Given the description of an element on the screen output the (x, y) to click on. 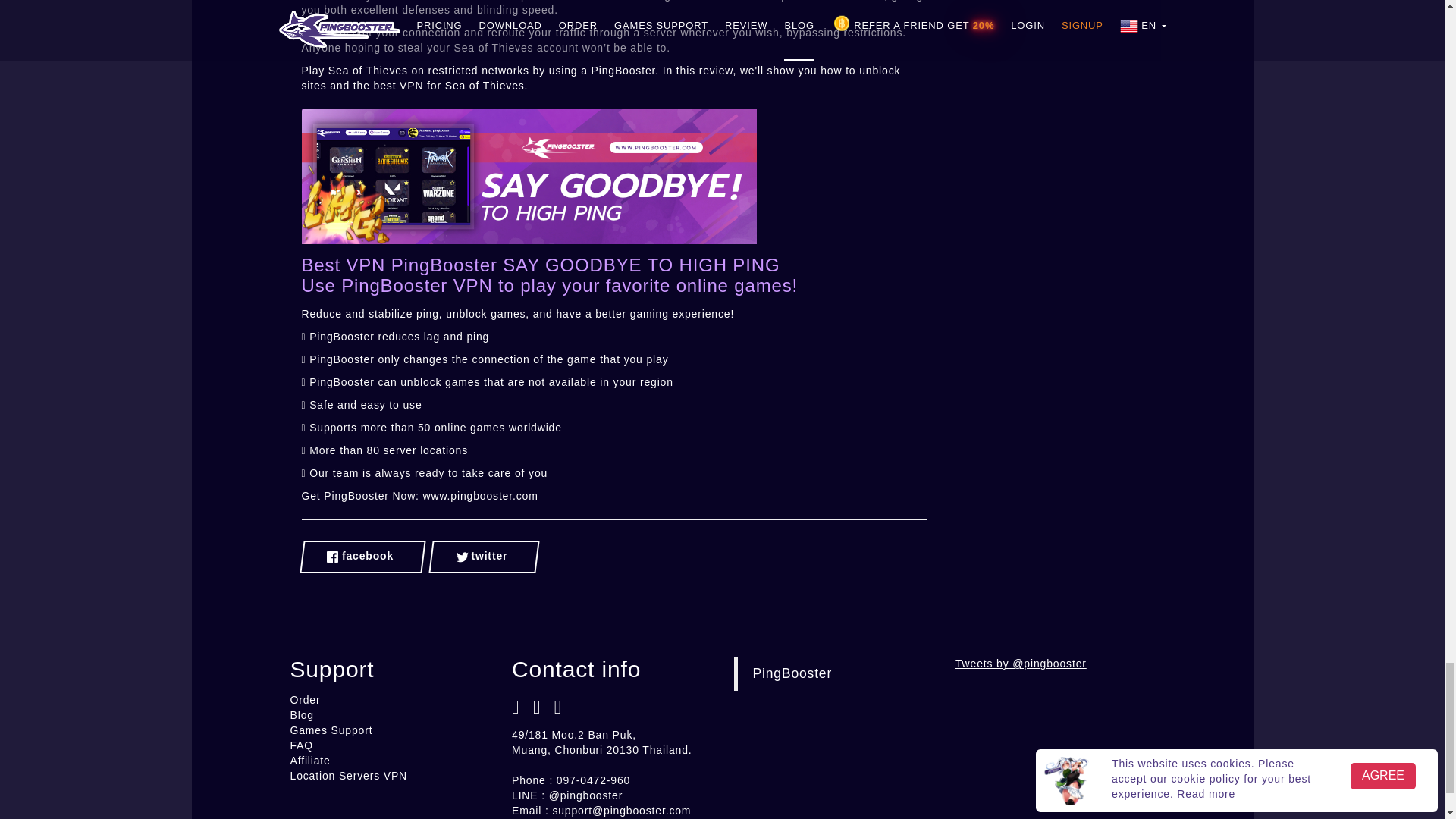
Share link on Facebook (362, 556)
Order (304, 699)
Games Support (330, 729)
Location Servers VPN (348, 775)
FAQ (301, 745)
Share link on Twitter (483, 556)
Affiliate (309, 760)
Blog (301, 715)
